Given the description of an element on the screen output the (x, y) to click on. 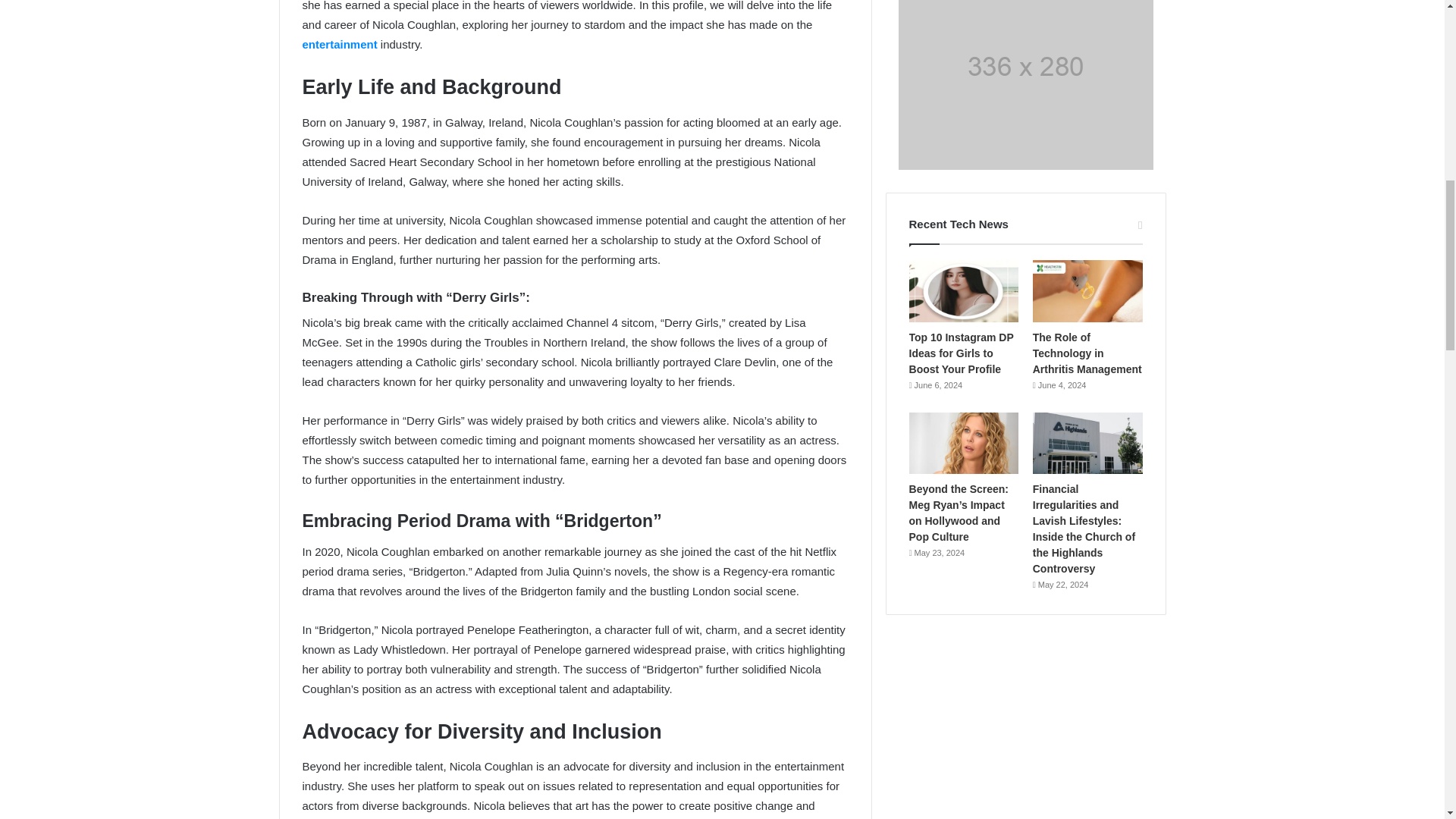
entertainment (339, 43)
